Given the description of an element on the screen output the (x, y) to click on. 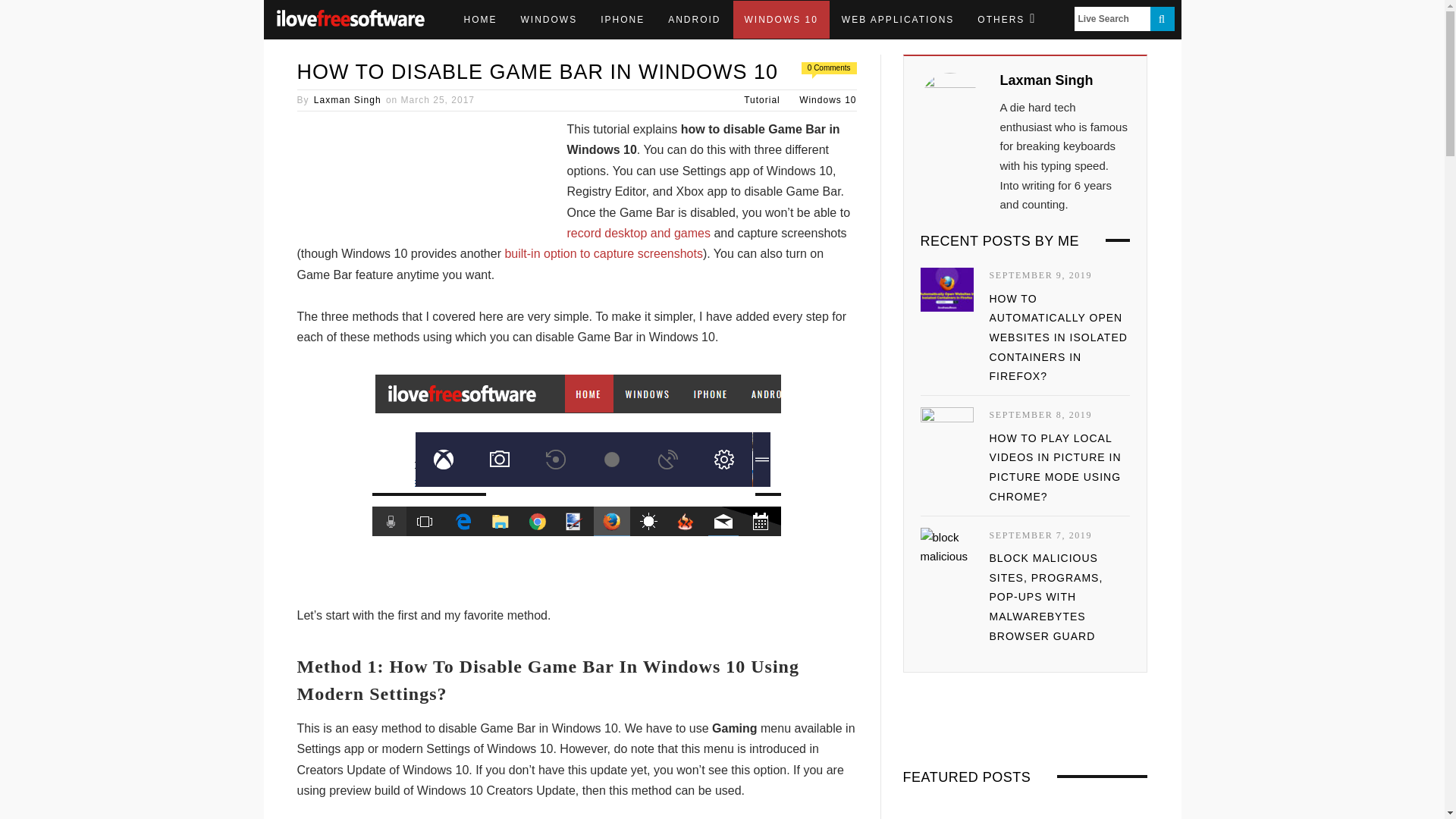
OTHERS (1006, 19)
0 Comments (829, 67)
Windows 10 (827, 100)
Posts by Laxman Singh (347, 100)
ANDROID (694, 19)
0 Comments (829, 67)
Laxman Singh (347, 100)
record desktop and games (638, 232)
SEARCH (1161, 18)
